Given the description of an element on the screen output the (x, y) to click on. 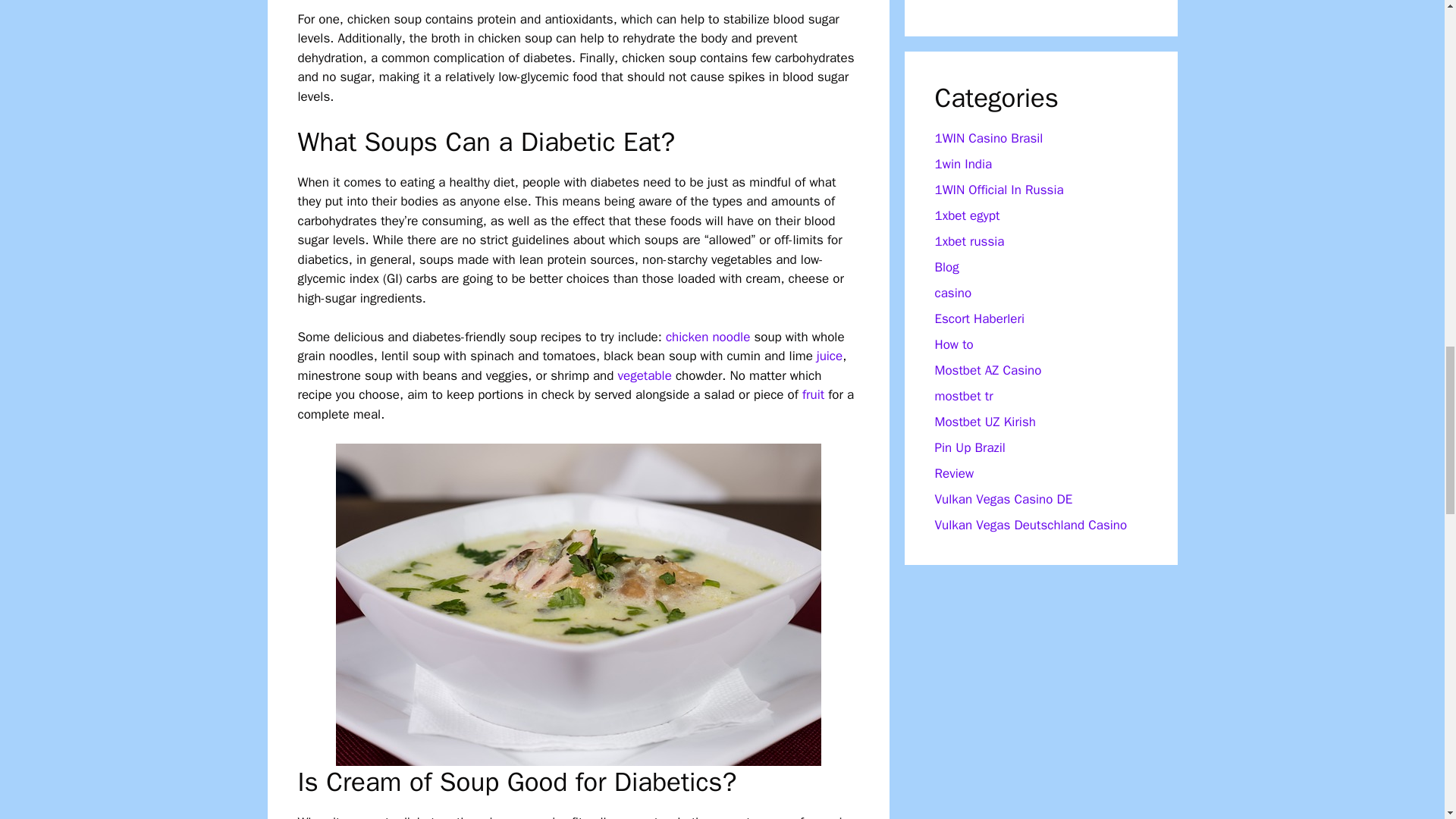
juice (829, 355)
chicken noodle (707, 336)
vegetable (644, 375)
